Given the description of an element on the screen output the (x, y) to click on. 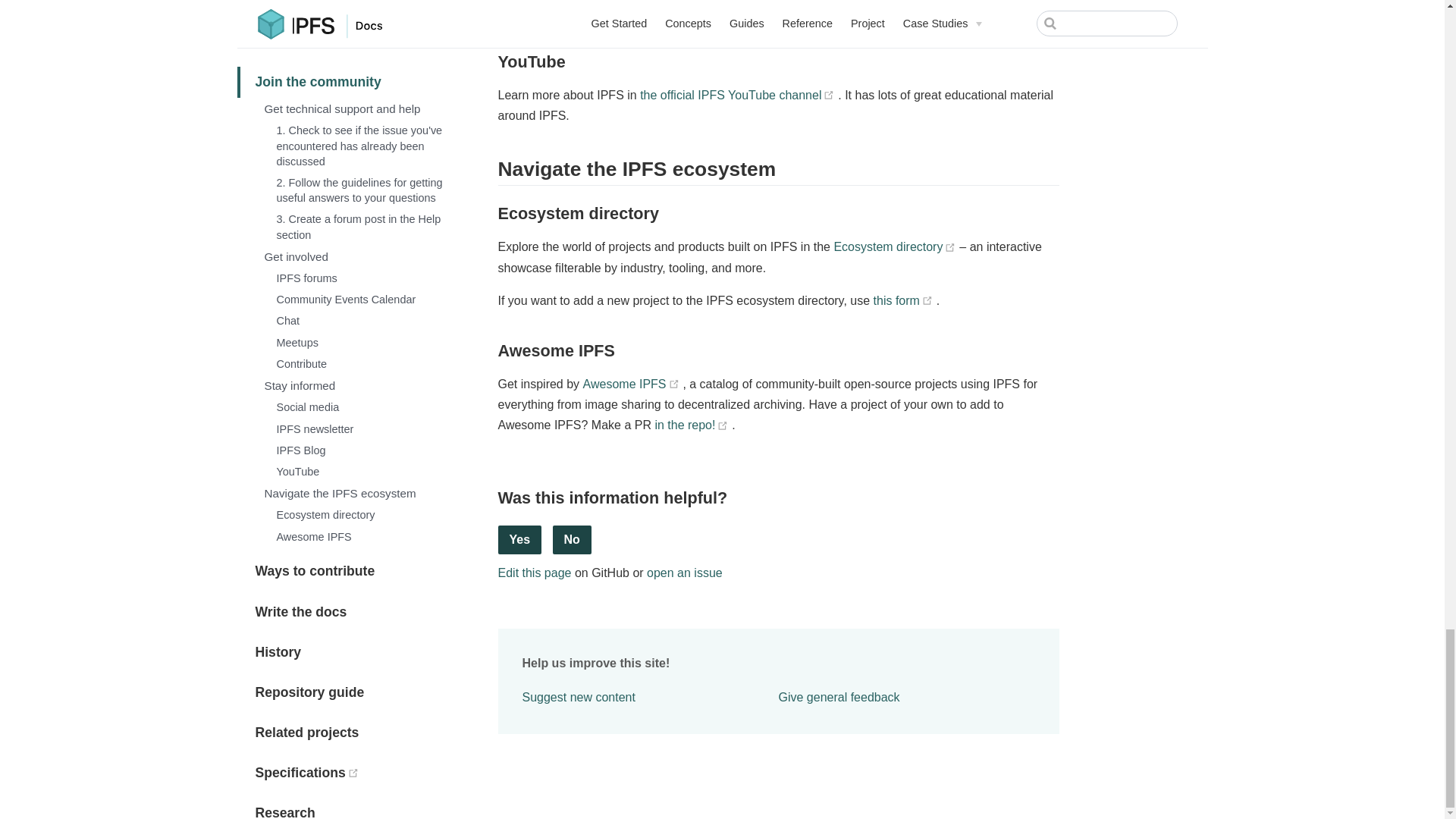
No (572, 539)
Yes (519, 539)
